Given the description of an element on the screen output the (x, y) to click on. 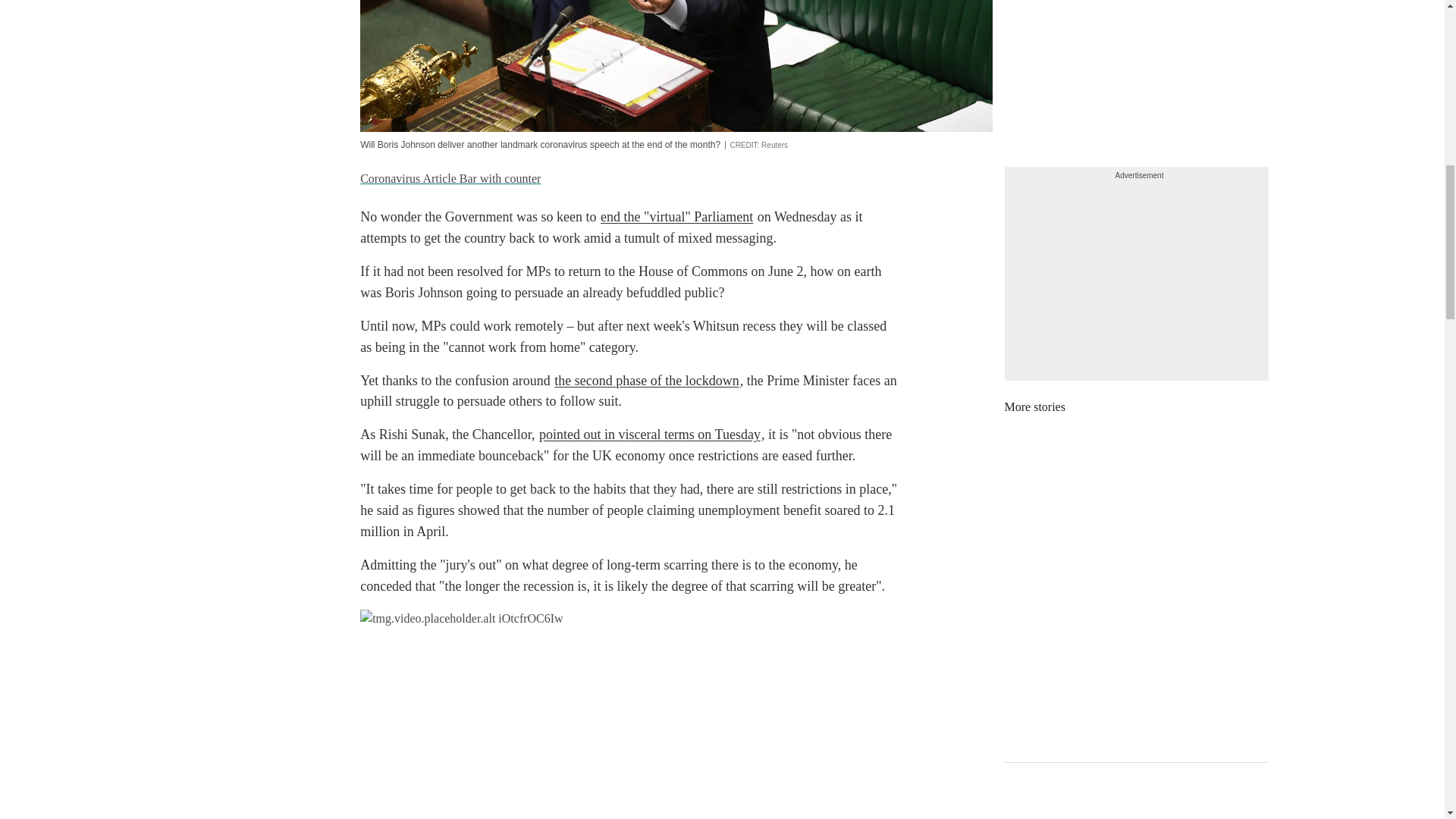
Coronavirus Article Bar with counter (449, 178)
